Given the description of an element on the screen output the (x, y) to click on. 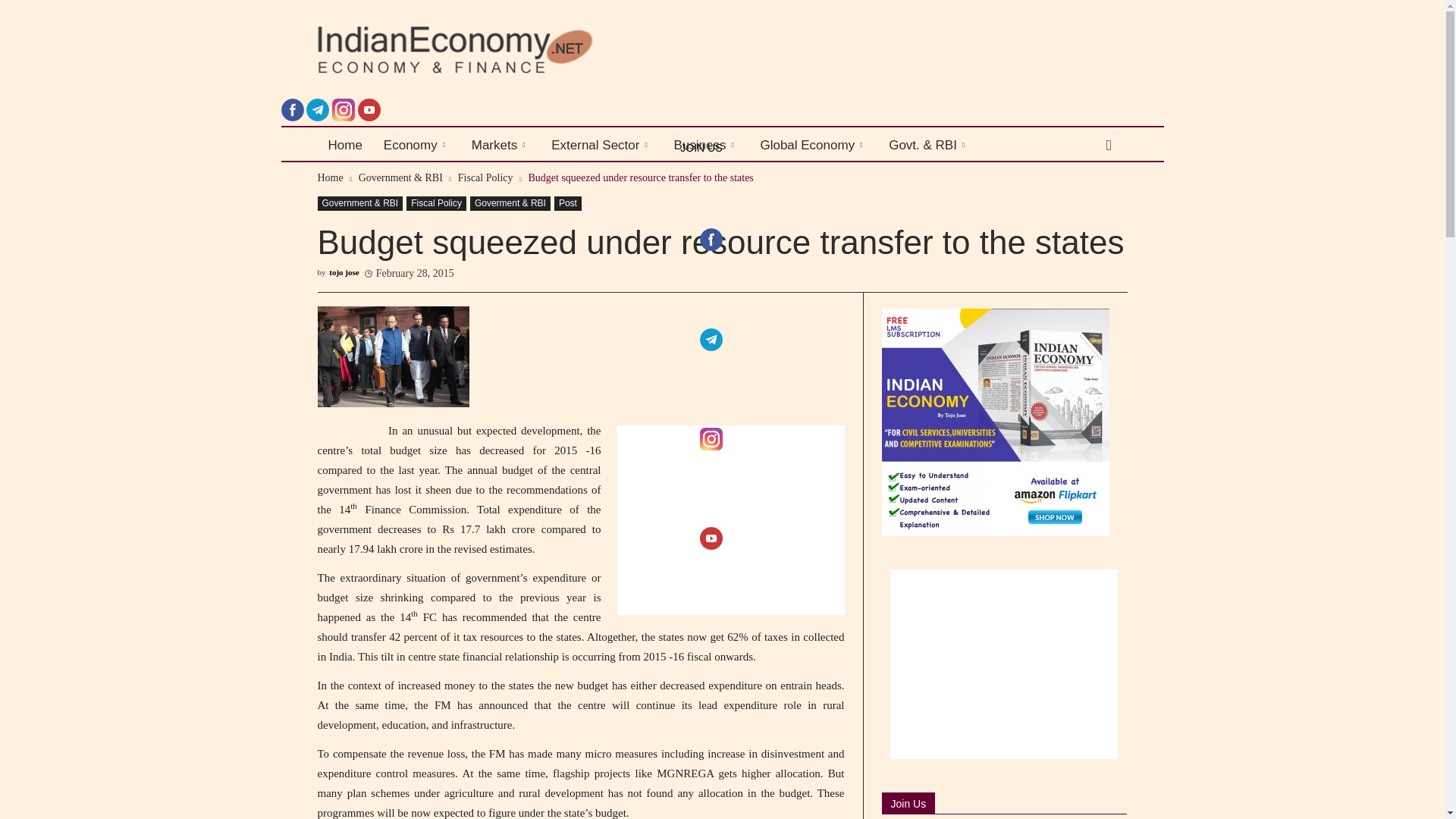
Indian Economy (455, 49)
Advertisement (730, 520)
View all posts in Fiscal Policy (485, 177)
Indian Economy (519, 49)
